Given the description of an element on the screen output the (x, y) to click on. 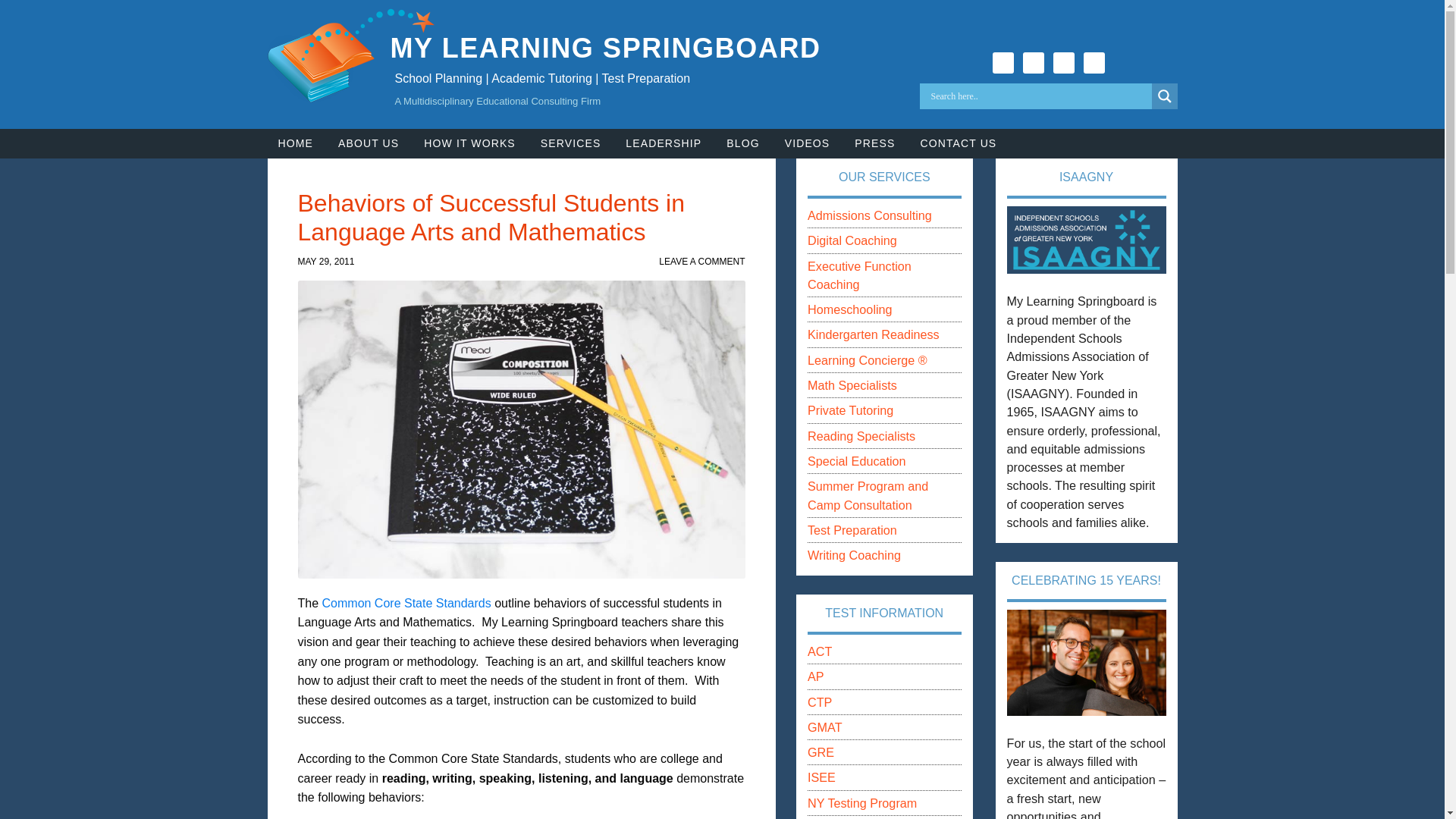
Common Core State Standards (406, 603)
LEADERSHIP (662, 143)
HOW IT WORKS (469, 143)
VIDEOS (807, 143)
PRESS (874, 143)
Home (294, 143)
SERVICES (570, 143)
Educational Consulting Services (570, 143)
CONTACT US (957, 143)
MY LEARNING SPRINGBOARD (605, 47)
